Given the description of an element on the screen output the (x, y) to click on. 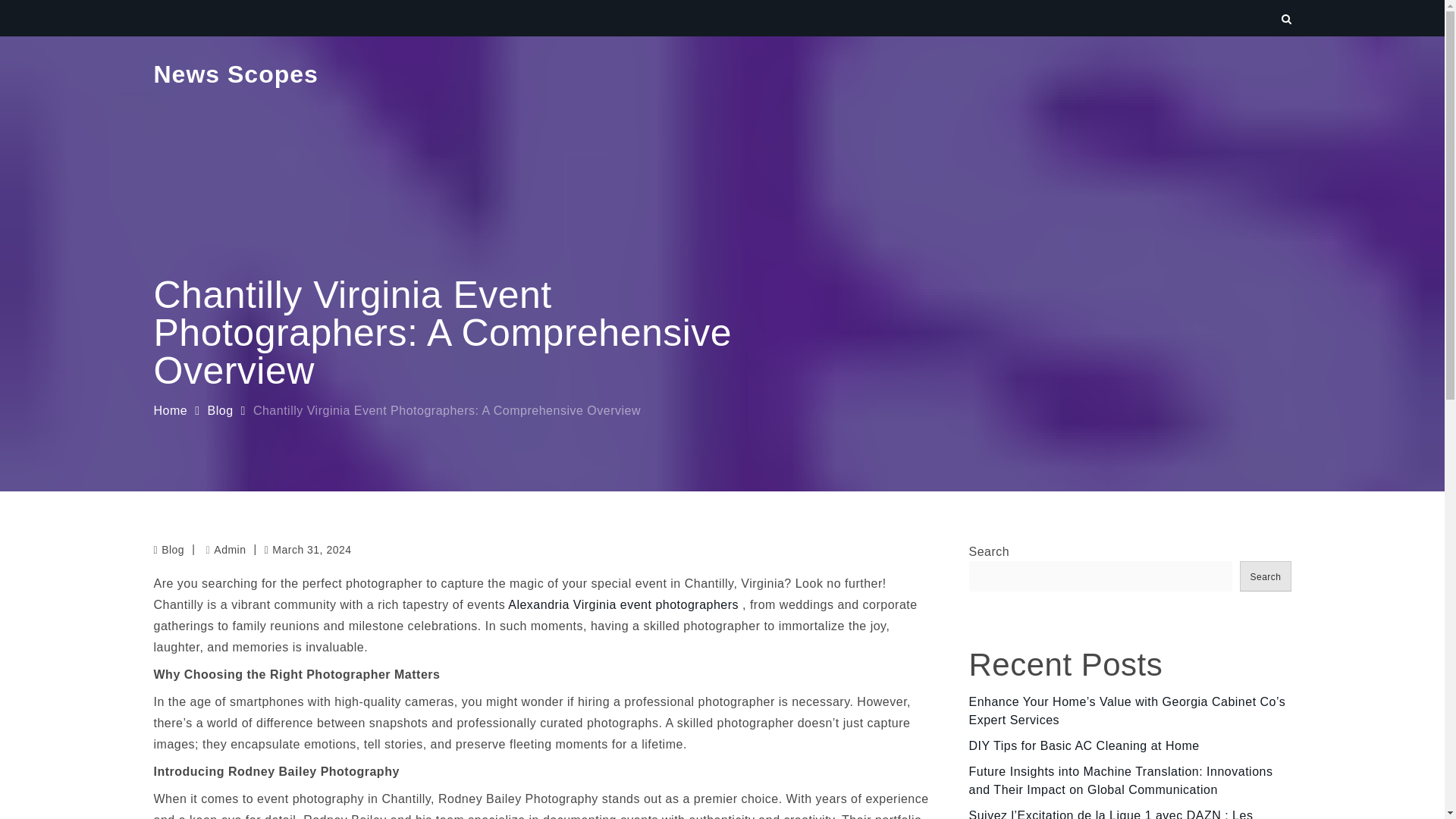
Home (169, 410)
Admin (226, 549)
DIY Tips for Basic AC Cleaning at Home (1084, 745)
News Scopes (234, 73)
Blog (172, 549)
Blog (220, 410)
Alexandria Virginia event photographers (625, 604)
Search (1265, 576)
March 31, 2024 (308, 549)
